Given the description of an element on the screen output the (x, y) to click on. 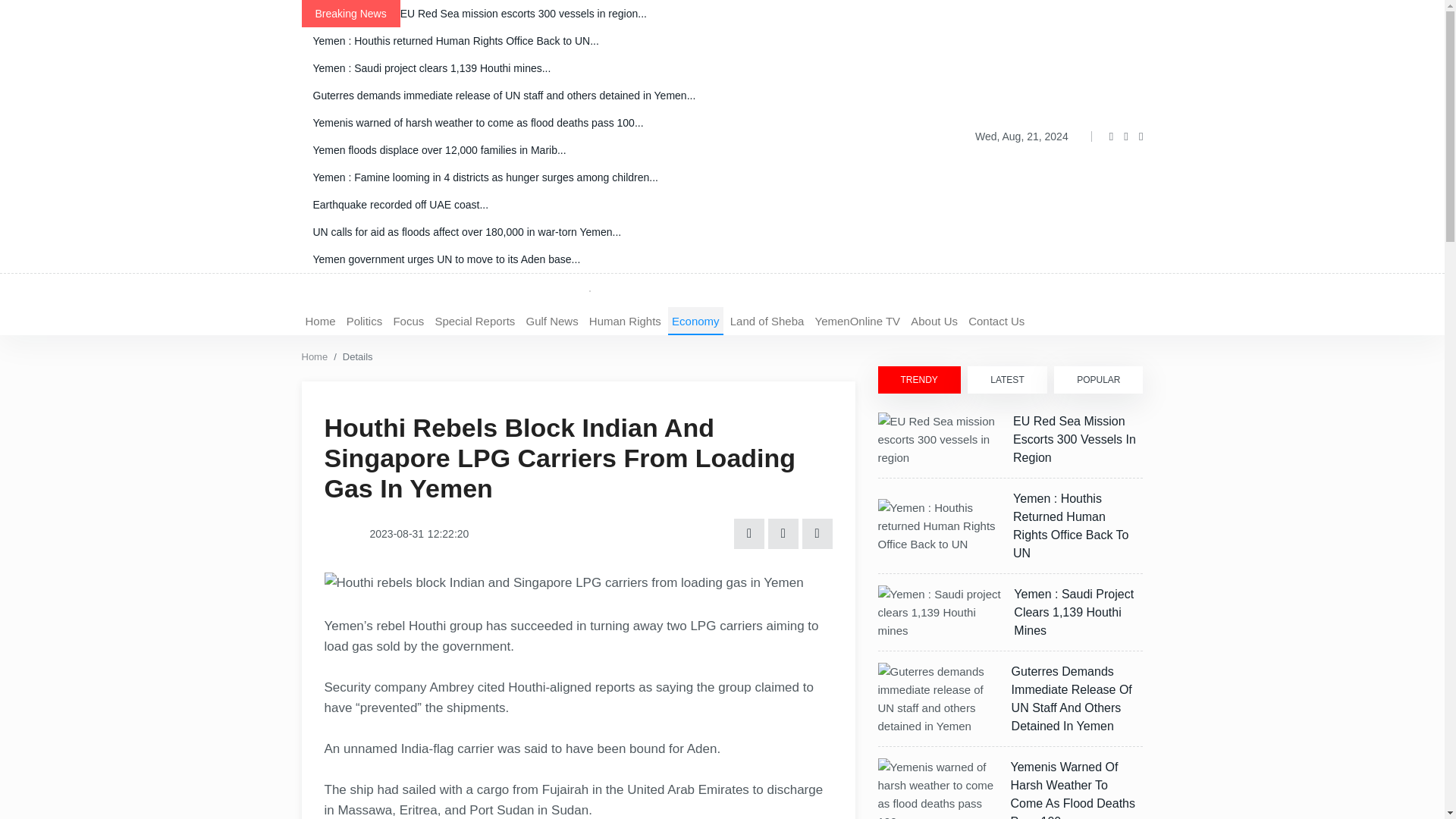
POPULAR (1098, 379)
Politics (364, 320)
EU Red Sea mission escorts 300 vessels in region... (578, 13)
Contact Us (995, 320)
Economy (695, 320)
Special Reports (474, 320)
Yemen : Houthis returned Human Rights Office Back to UN... (578, 40)
Earthquake recorded off UAE coast... (578, 204)
Yemen : Houthis Returned Human Rights Office Back To UN (1070, 525)
